Given the description of an element on the screen output the (x, y) to click on. 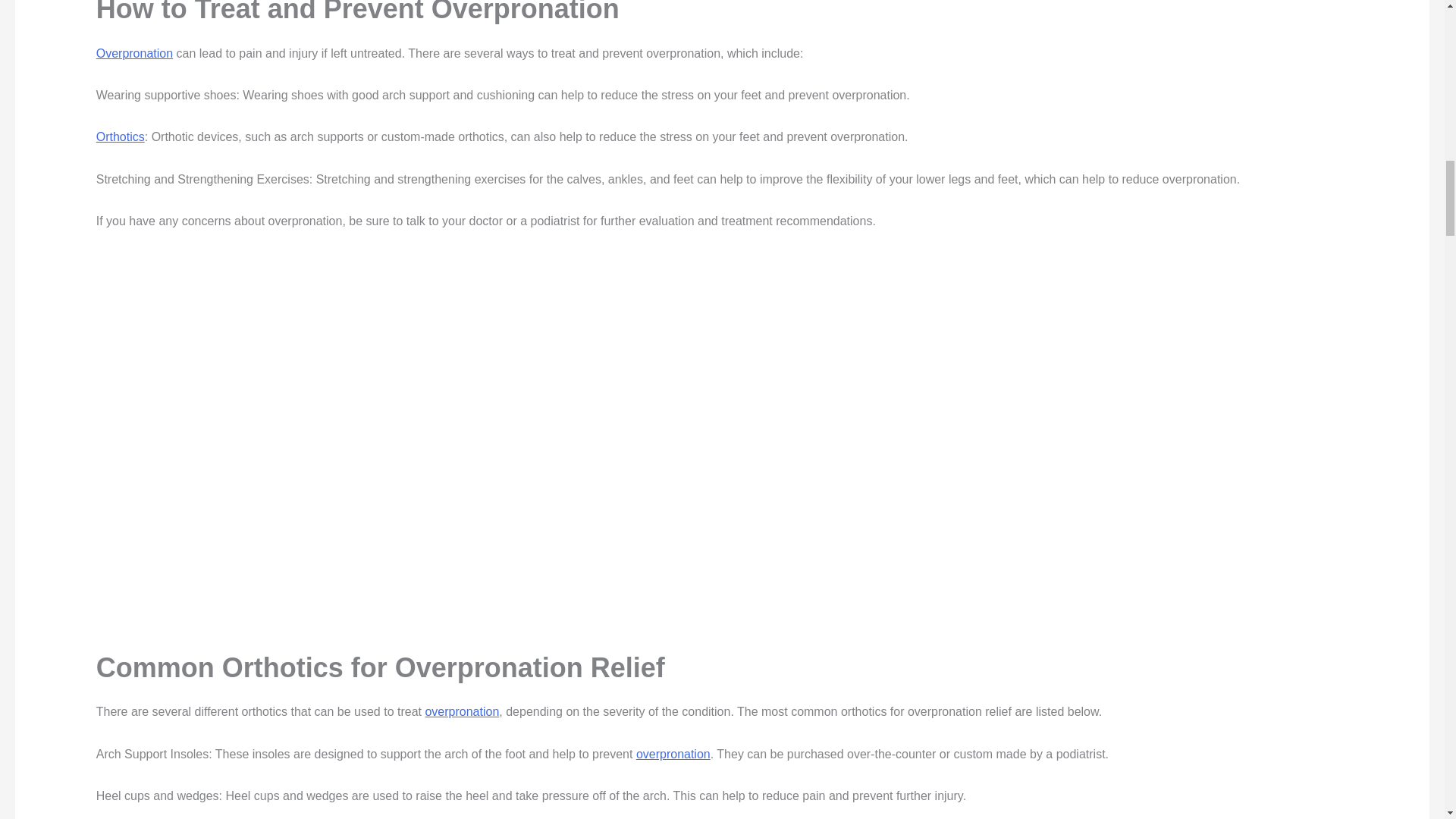
Overpronation (134, 52)
overpronation (462, 711)
Orthotics (120, 136)
overpronation (673, 753)
